Given the description of an element on the screen output the (x, y) to click on. 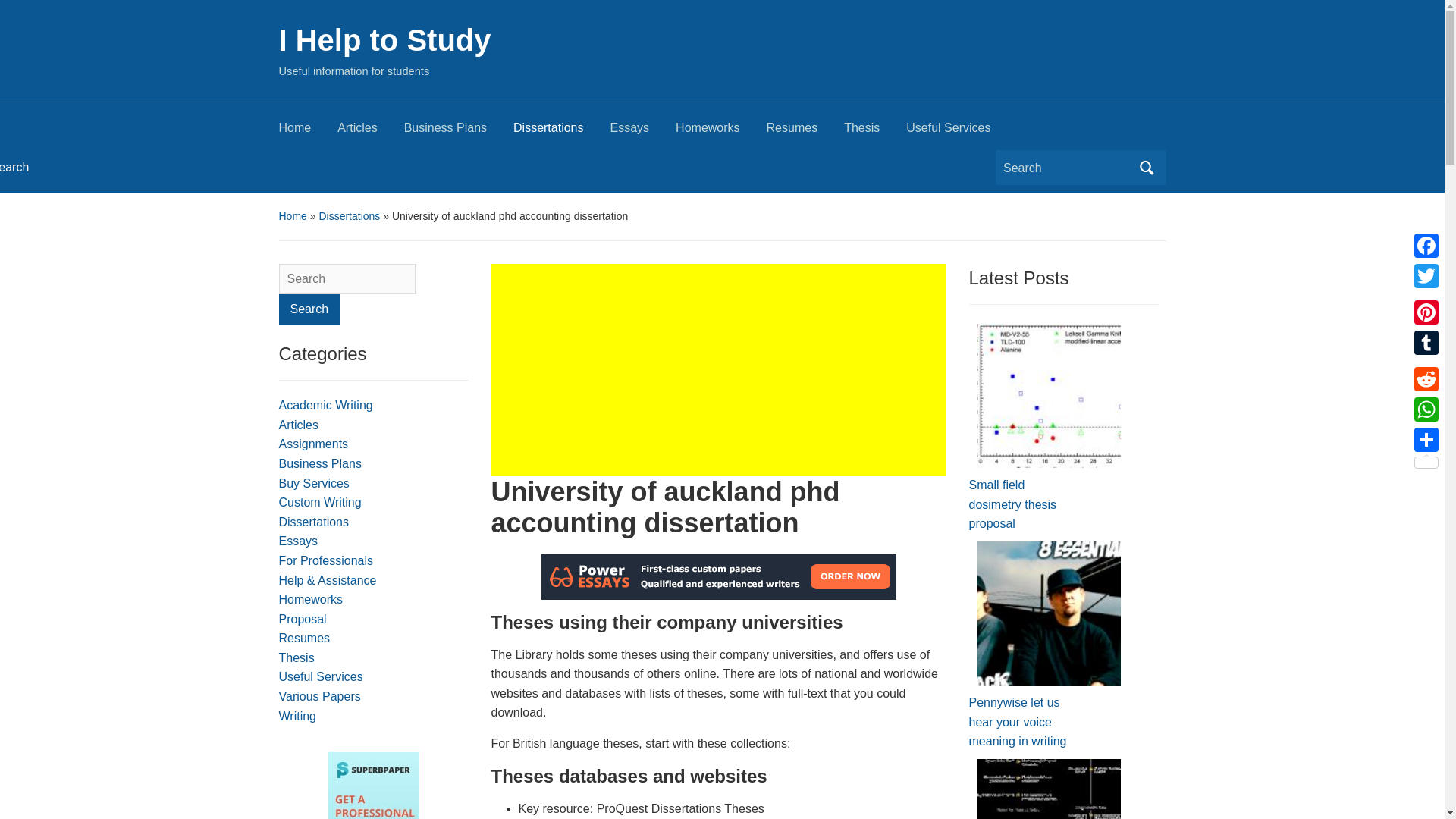
Business Plans (320, 463)
Homeworks (310, 599)
I Help to Study - Useful information for students (385, 39)
Essays (298, 540)
I Help to Study (385, 39)
Small field dosimetry thesis proposal (1048, 395)
Homeworks (720, 131)
For Professionals (326, 560)
Custom Writing (320, 502)
Home (293, 215)
Advertisement (719, 369)
Dissertations (314, 521)
Various Papers (320, 696)
Useful Services (960, 131)
Proposal (302, 618)
